Given the description of an element on the screen output the (x, y) to click on. 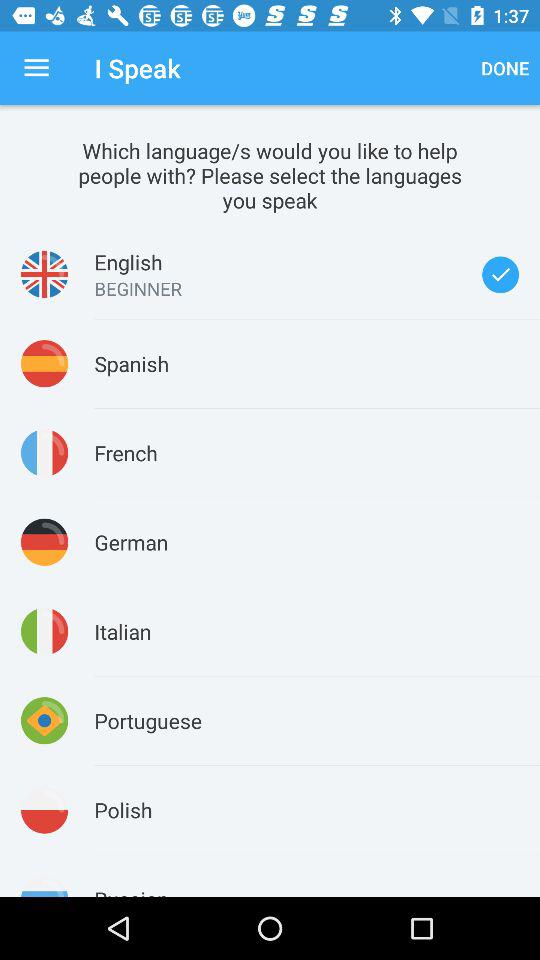
choose the item to the left of the i speak (36, 68)
